Given the description of an element on the screen output the (x, y) to click on. 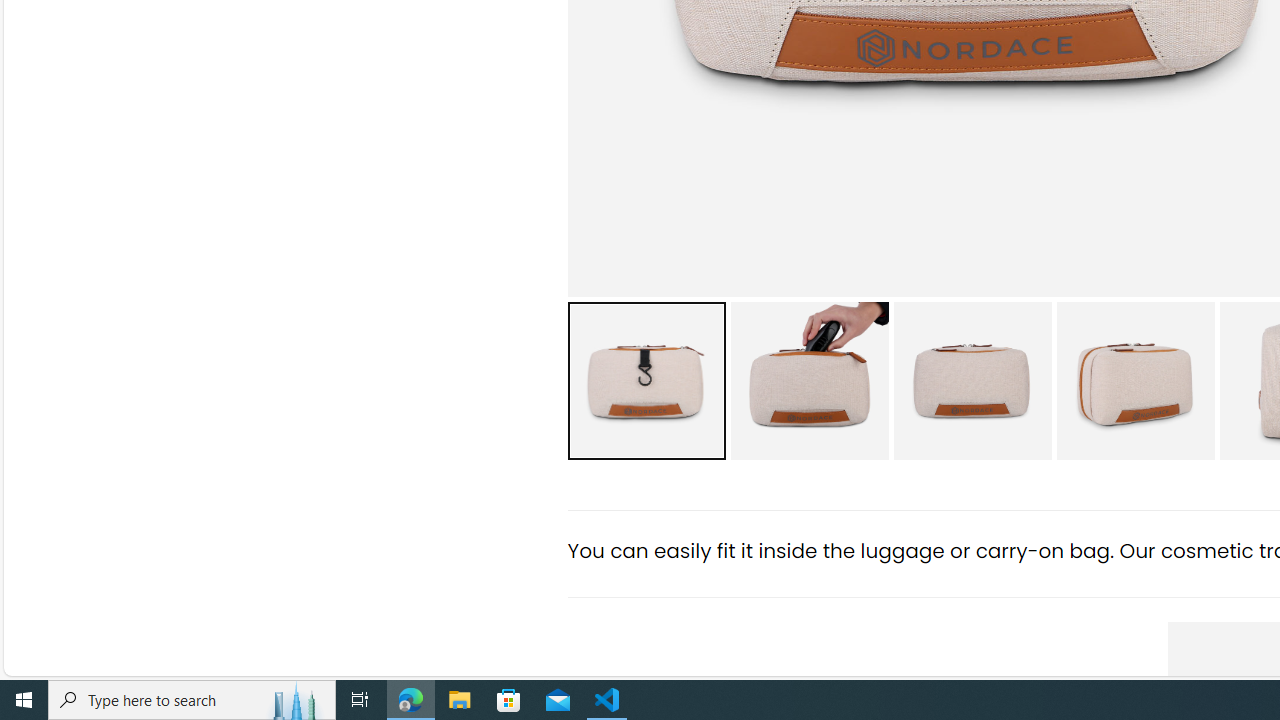
Nordace Siena Wash Pouch (1135, 380)
